Given the description of an element on the screen output the (x, y) to click on. 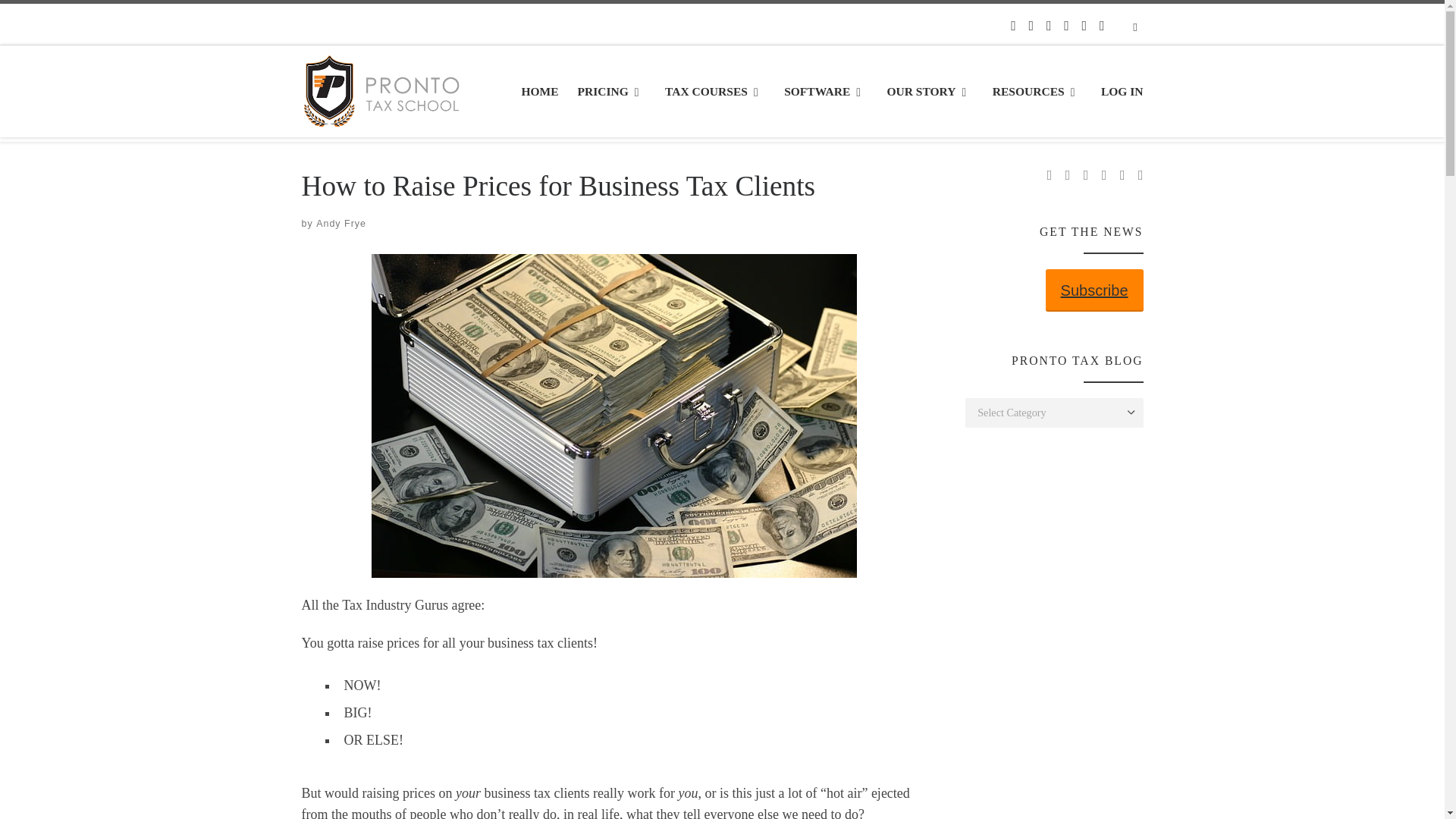
Follow us on Youtube (1013, 26)
Search (1135, 26)
Follow us on Facebook (1031, 26)
Skip to content (57, 20)
RESOURCES (1037, 91)
SOFTWARE (825, 91)
HOME (539, 91)
TAX COURSES (715, 91)
Follow us on Twitter (1048, 26)
OUR STORY (930, 91)
Follow us on Instagram (1066, 26)
View all posts by Andy Frye (340, 223)
Follow us on Linkedin (1084, 26)
Subscribe to our rss feed (1102, 26)
PRICING (611, 91)
